Given the description of an element on the screen output the (x, y) to click on. 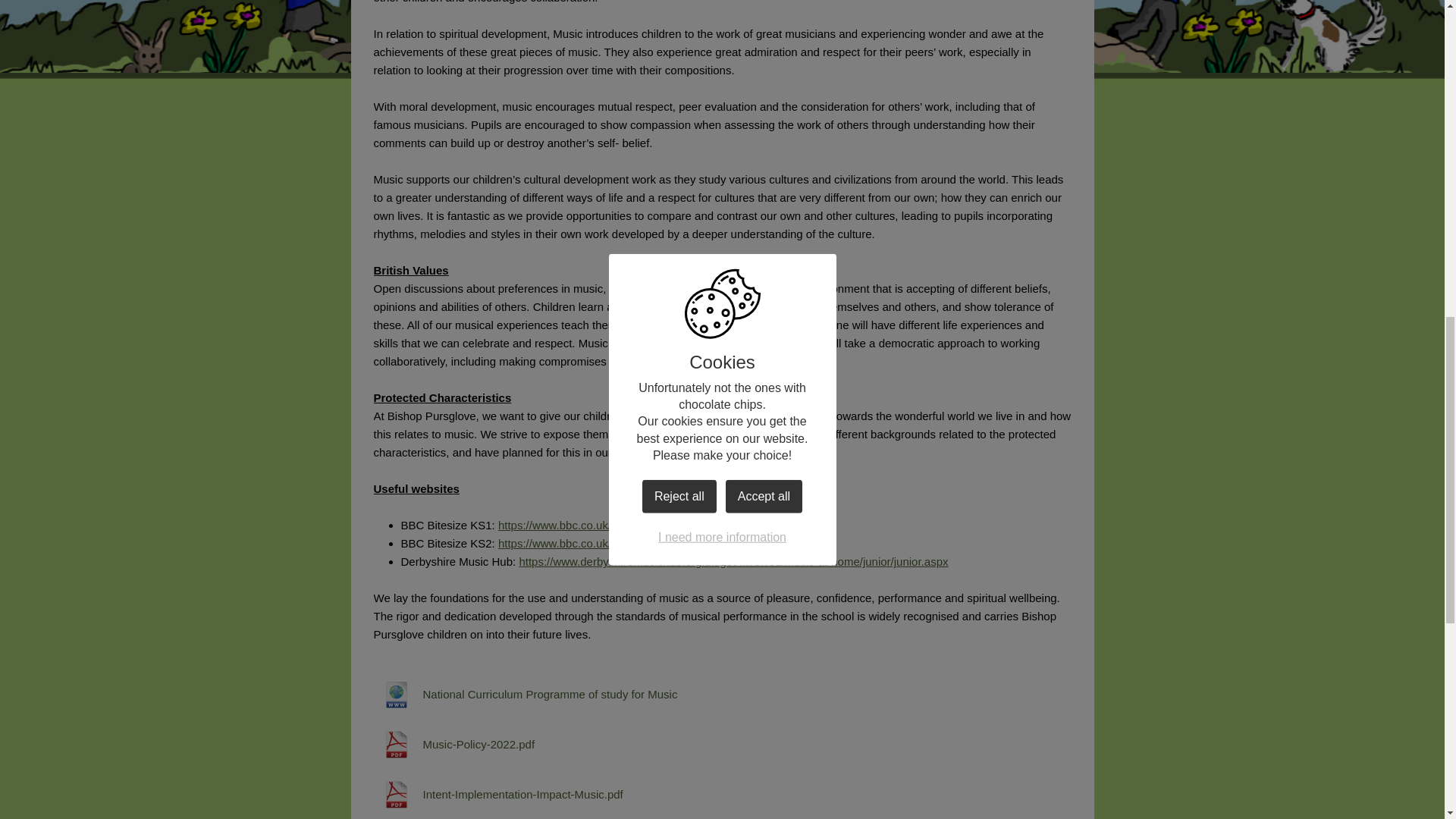
Music-Policy-2022.pdf (453, 744)
Intent-Implementation-Impact-Music.pdf (497, 794)
National Curriculum Programme of study for Music (524, 694)
